Given the description of an element on the screen output the (x, y) to click on. 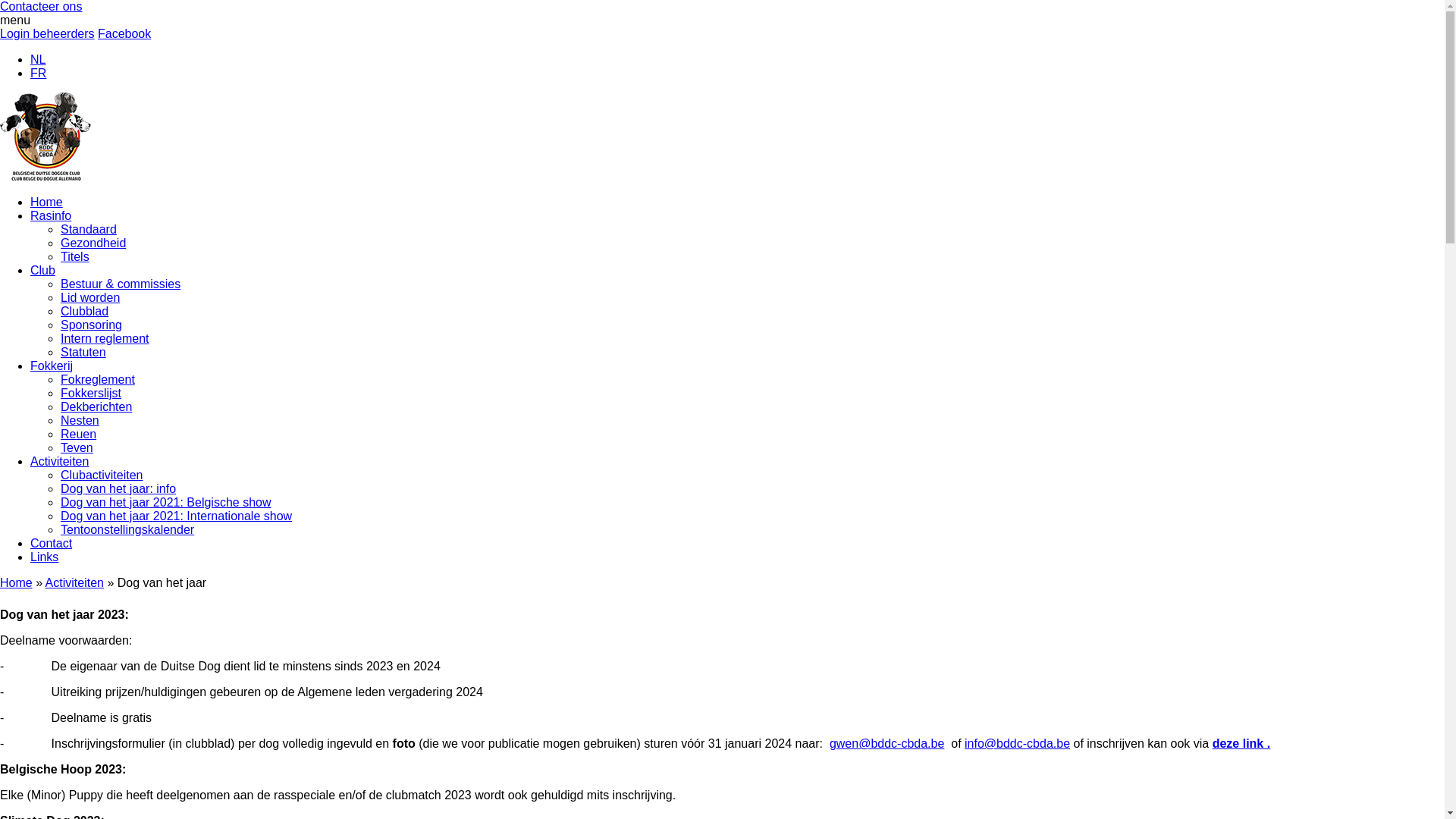
Fokkerslijst Element type: text (90, 392)
Tentoonstellingskalender Element type: text (127, 529)
gwen@bddc-cbda.be Element type: text (886, 743)
Bestuur & commissies Element type: text (120, 283)
Facebook Element type: text (123, 33)
Dog van het jaar: info Element type: text (117, 488)
Intern reglement Element type: text (104, 338)
FR Element type: text (38, 72)
Lid worden Element type: text (89, 297)
Clubblad Element type: text (84, 310)
Activiteiten Element type: text (74, 582)
Dog van het jaar 2021: Internationale show Element type: text (175, 515)
Teven Element type: text (76, 447)
Dekberichten Element type: text (95, 406)
Standaard Element type: text (88, 228)
Club Element type: text (42, 269)
Gezondheid Element type: text (92, 242)
Reuen Element type: text (78, 433)
Links Element type: text (44, 556)
info@bddc-cbda.be Element type: text (1017, 743)
NL Element type: text (37, 59)
Contact Element type: text (51, 542)
Contacteer ons Element type: text (41, 6)
Clubactiviteiten Element type: text (101, 474)
Titels Element type: text (74, 256)
deze link . Element type: text (1241, 743)
Fokreglement Element type: text (97, 379)
Statuten Element type: text (83, 351)
Rasinfo Element type: text (50, 215)
Login beheerders Element type: text (47, 33)
Overslaan en naar de inhoud gaan Element type: text (0, 0)
Sponsoring Element type: text (91, 324)
Activiteiten Element type: text (59, 461)
menu Element type: text (15, 19)
Nesten Element type: text (79, 420)
Dog van het jaar 2021: Belgische show Element type: text (165, 501)
Fokkerij Element type: text (51, 365)
Home Element type: text (46, 201)
Home Element type: text (16, 582)
